Given the description of an element on the screen output the (x, y) to click on. 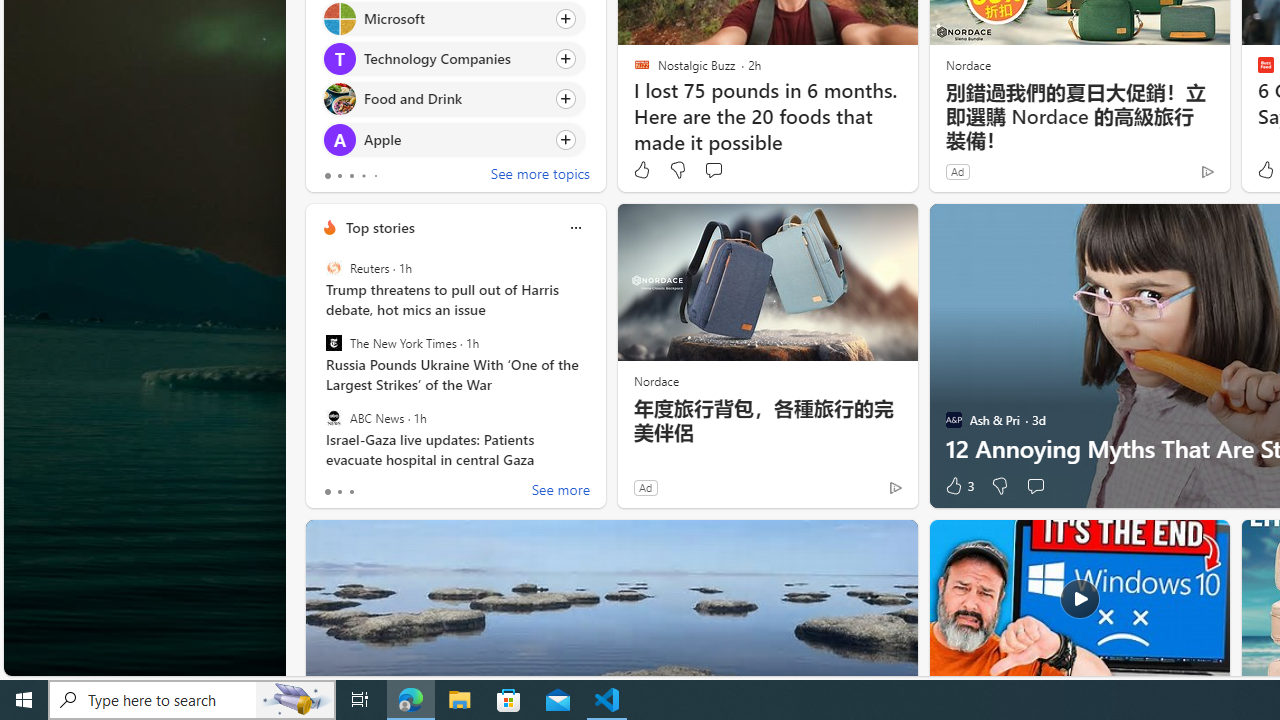
ABC News (333, 417)
tab-0 (327, 491)
Class: icon-img (575, 228)
The New York Times (333, 343)
Click to follow topic Apple (453, 138)
See more topics (540, 175)
Top stories (379, 227)
Click to follow topic Technology Companies (453, 59)
tab-1 (338, 491)
Like (641, 170)
